Given the description of an element on the screen output the (x, y) to click on. 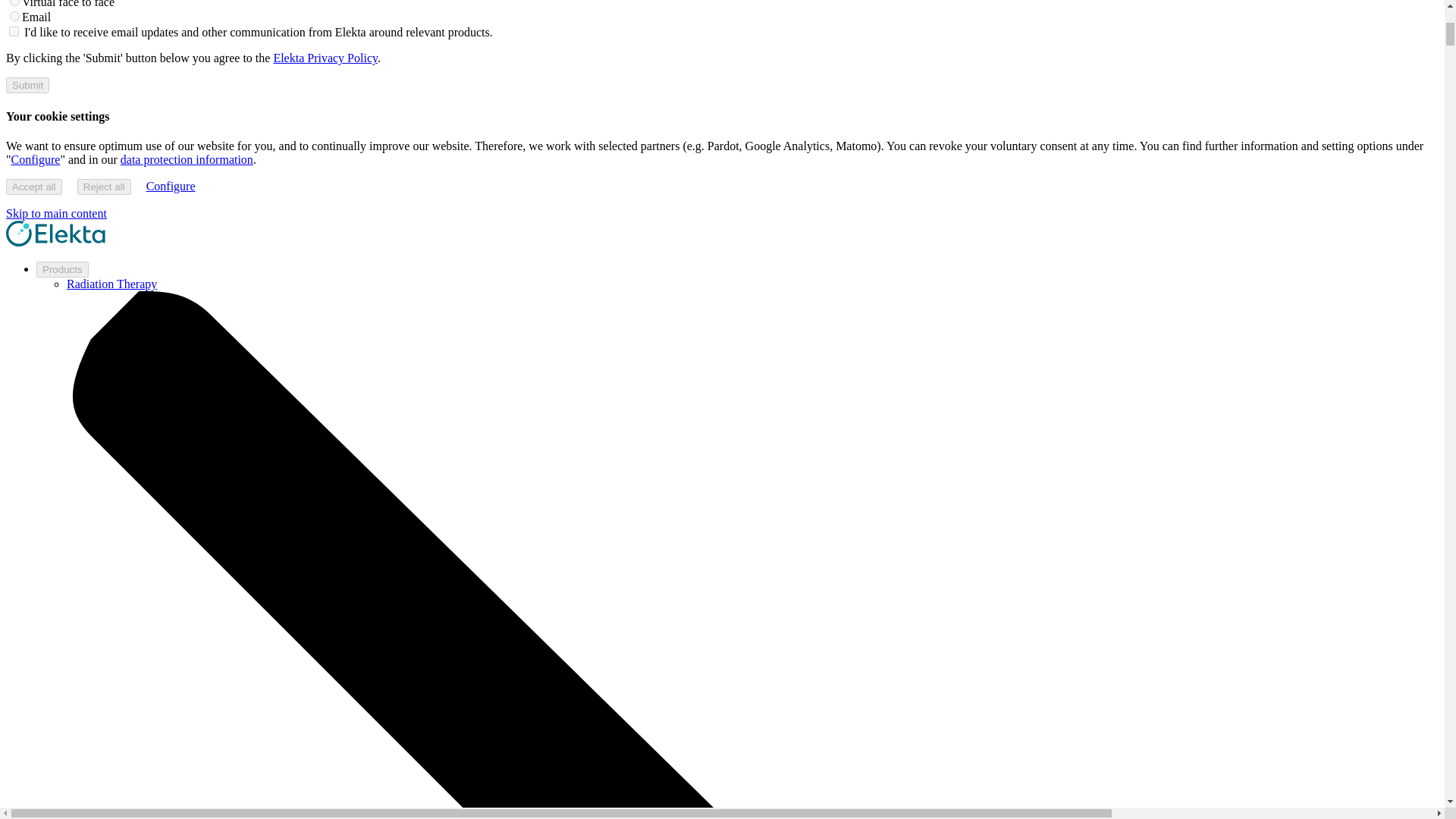
data protection information (186, 159)
Accept all (33, 186)
Products (62, 269)
Configure (36, 159)
Skip to main content (55, 213)
Submit (27, 84)
Configure (171, 185)
Elekta Privacy Policy (325, 57)
on (13, 31)
email (15, 16)
